Given the description of an element on the screen output the (x, y) to click on. 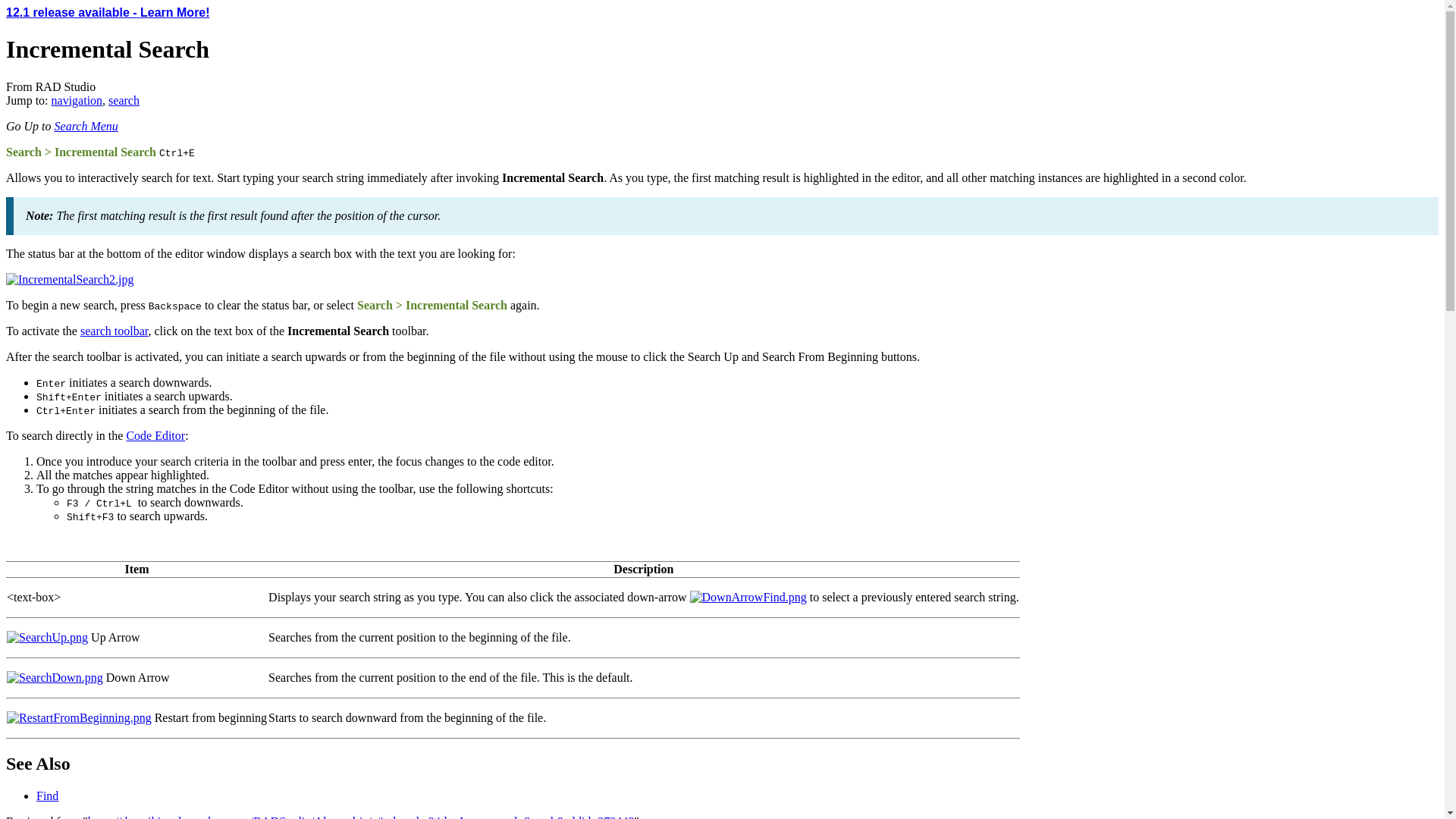
navigation (76, 100)
Search Menu (86, 125)
Find (114, 330)
search (123, 100)
Search Menu (86, 125)
Find (47, 795)
Code Editor (154, 435)
search toolbar (114, 330)
12.1 release available - Learn More! (107, 11)
Find (47, 795)
